Given the description of an element on the screen output the (x, y) to click on. 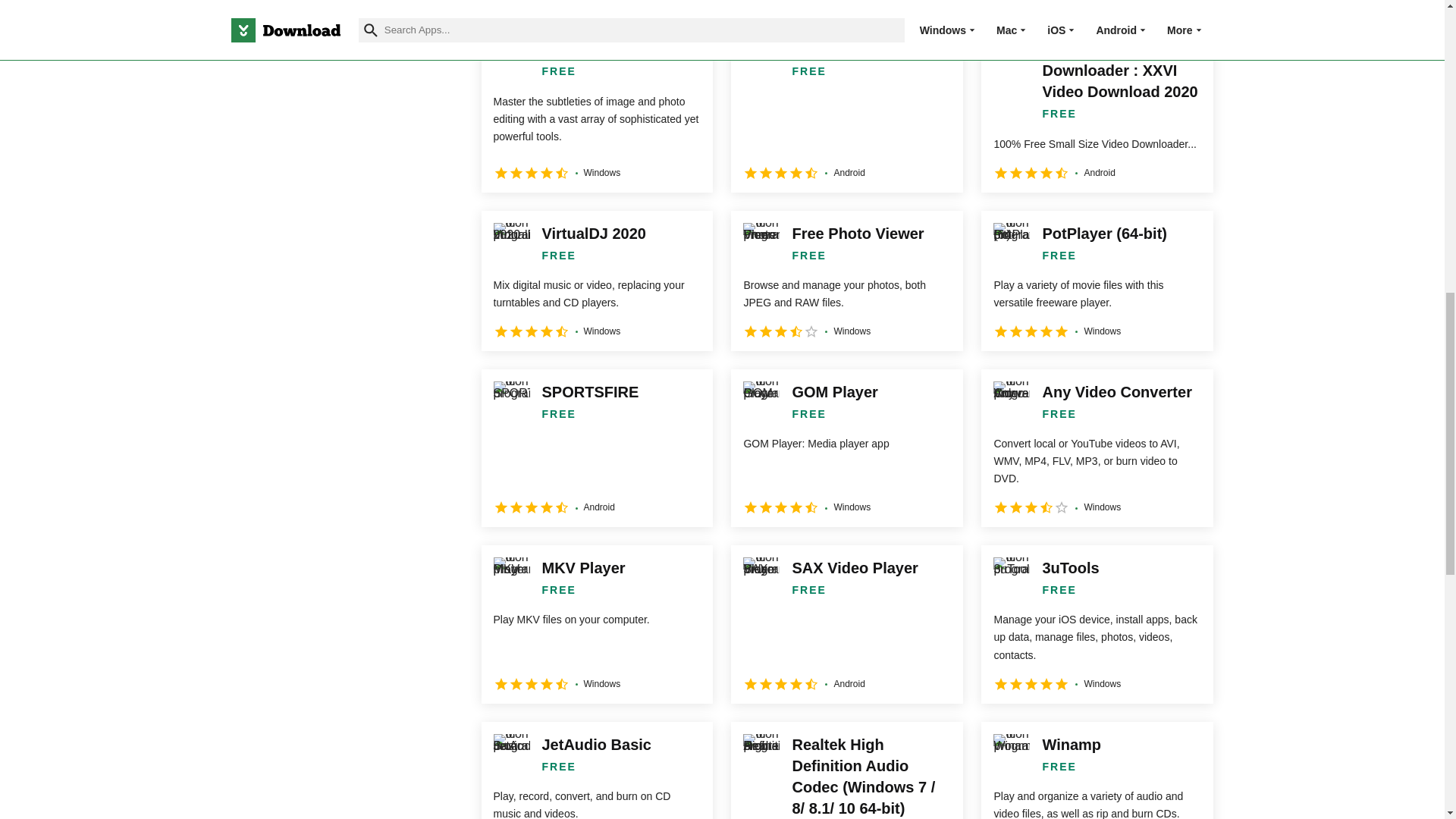
TV Express Premium (846, 108)
CarStream (1096, 4)
VirtualDJ 2020 (596, 280)
MKV Player (596, 623)
GOM Player (846, 448)
Paint.NET (596, 108)
SPORTSFIRE (596, 448)
Any Video Converter (1096, 448)
Free Photo Viewer (846, 280)
SAX Video Player (846, 623)
